Given the description of an element on the screen output the (x, y) to click on. 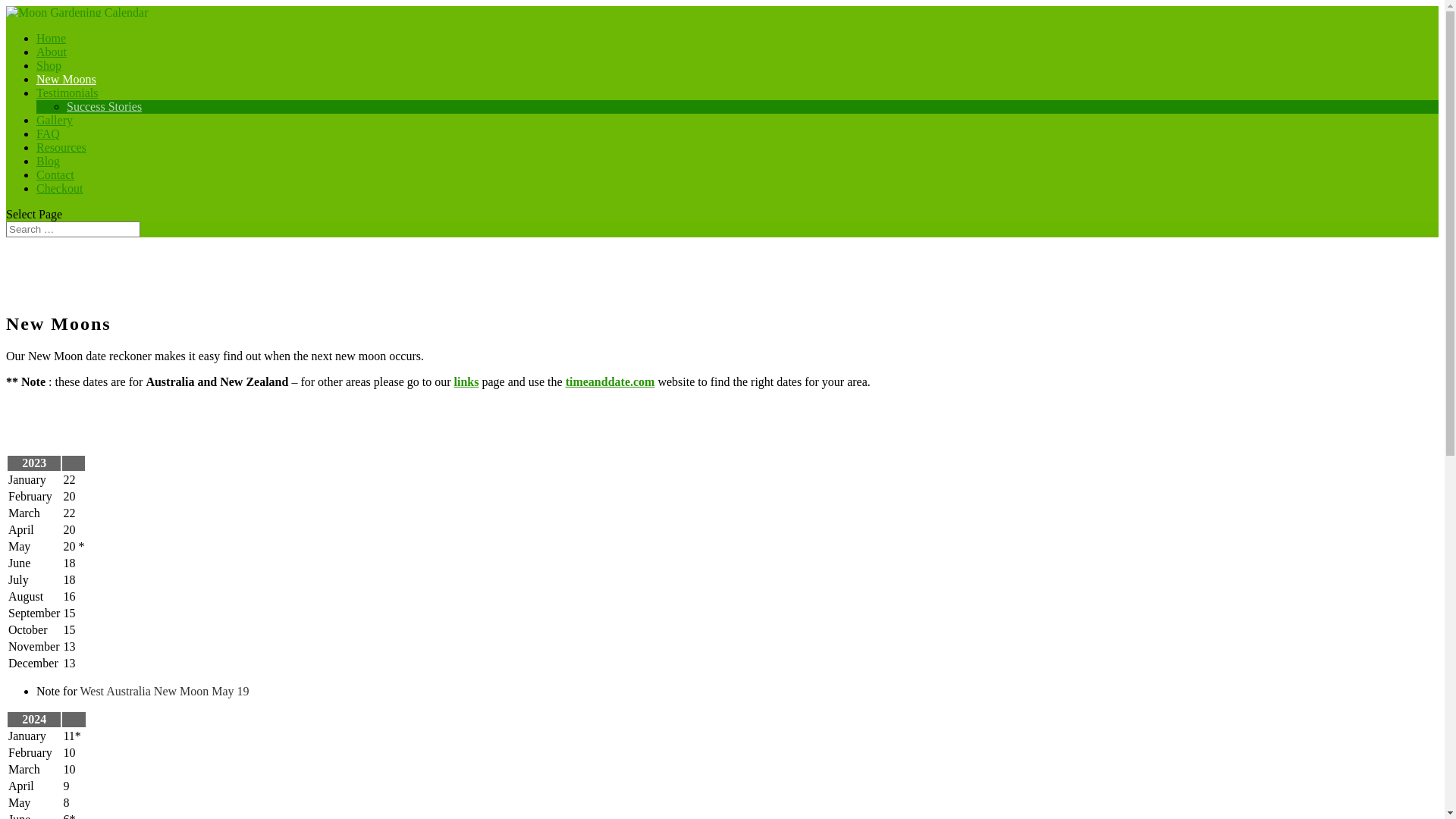
New Moons Element type: text (66, 85)
Gallery Element type: text (54, 126)
links Element type: text (466, 381)
Success Stories Element type: text (103, 106)
timeanddate.com Element type: text (610, 381)
Blog Element type: text (47, 167)
Testimonials Element type: text (67, 99)
Search for: Element type: hover (73, 229)
About Element type: text (51, 58)
Resources Element type: text (61, 154)
Checkout Element type: text (59, 195)
Home Element type: text (50, 44)
Contact Element type: text (55, 181)
FAQ Element type: text (47, 140)
Shop Element type: text (48, 72)
